Given the description of an element on the screen output the (x, y) to click on. 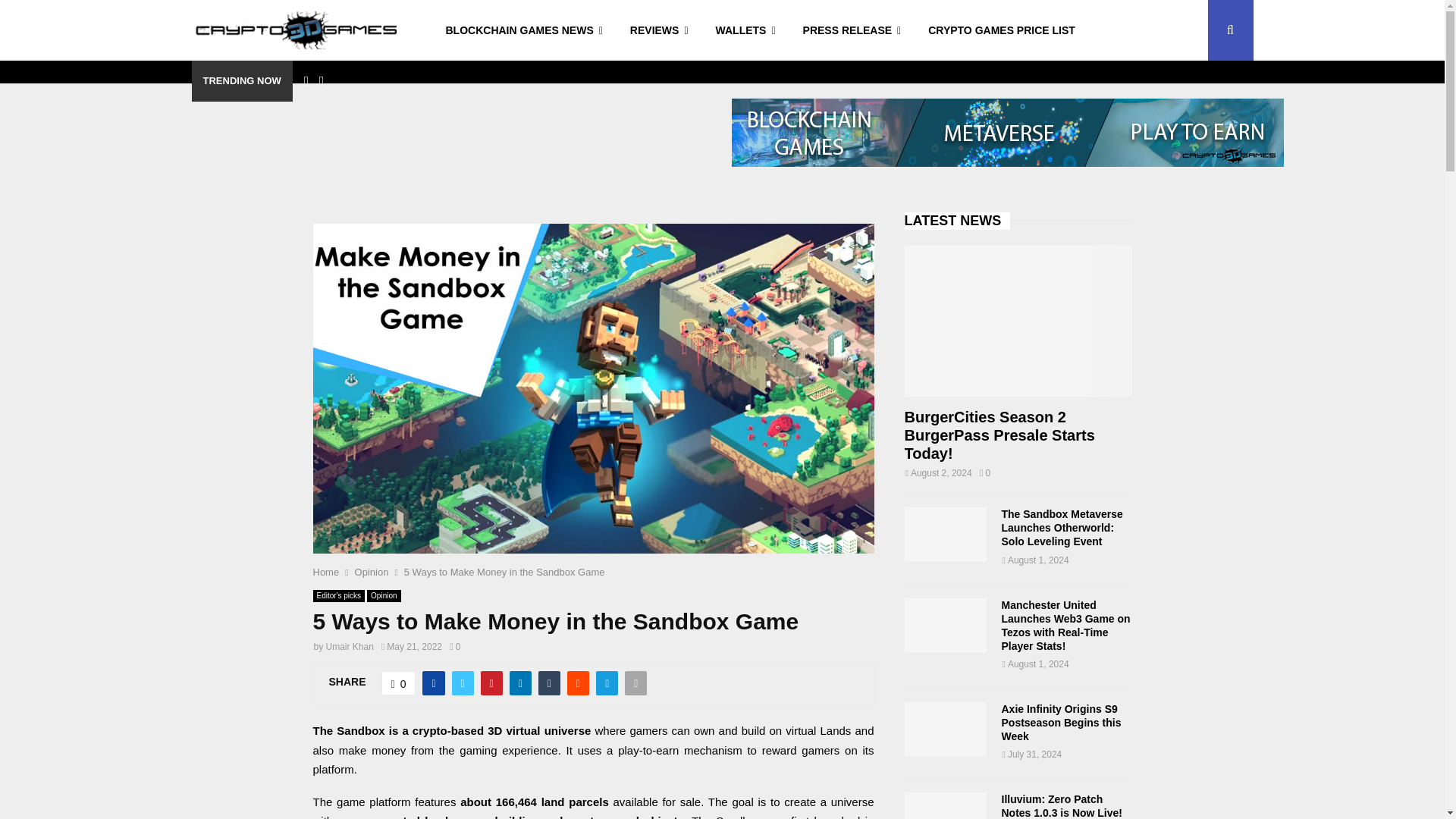
Like (398, 682)
REVIEWS (658, 30)
BLOCKCHAIN GAMES NEWS (523, 30)
WALLETS (745, 30)
